Given the description of an element on the screen output the (x, y) to click on. 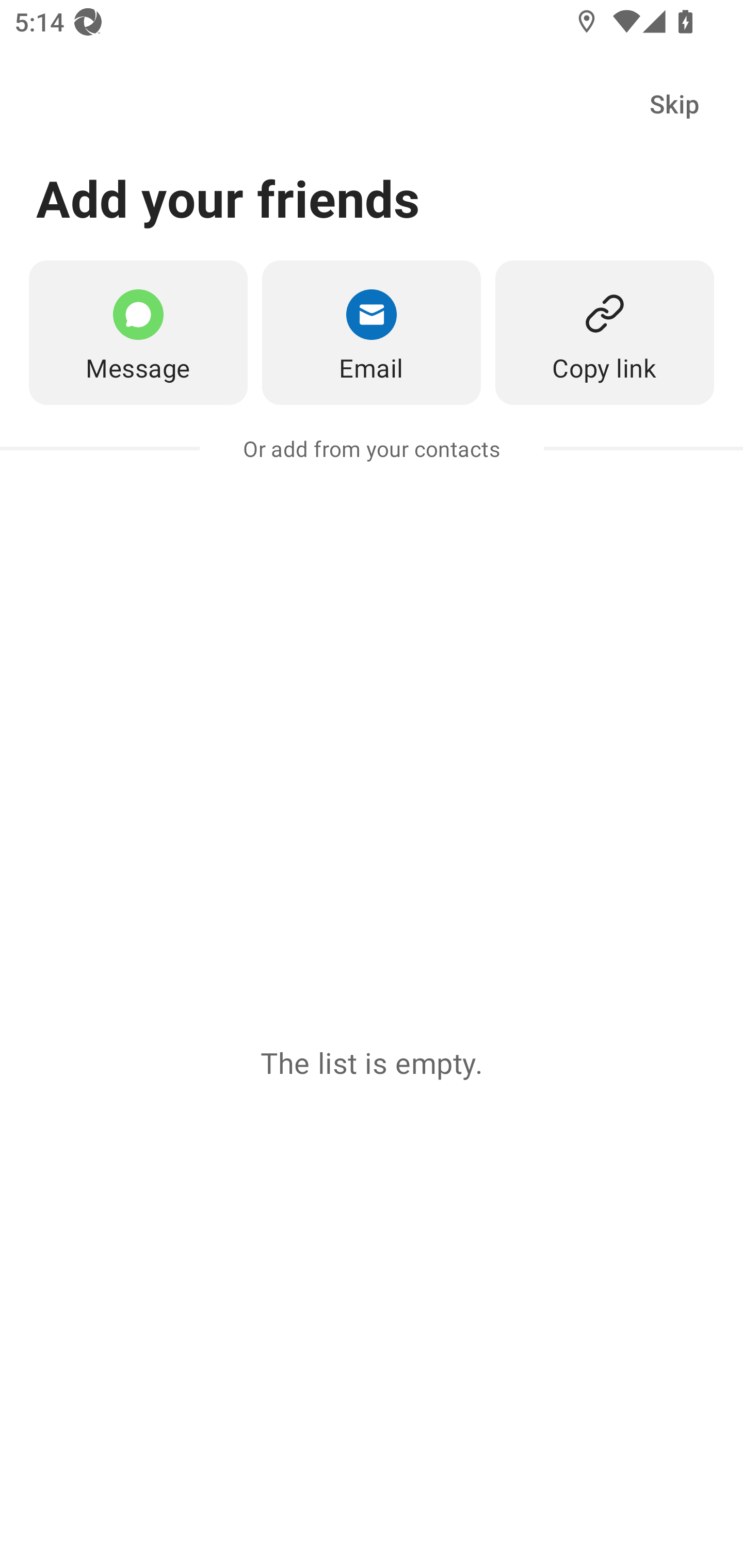
Skip (674, 103)
Message (137, 332)
Email (371, 332)
Copy link (604, 332)
